Given the description of an element on the screen output the (x, y) to click on. 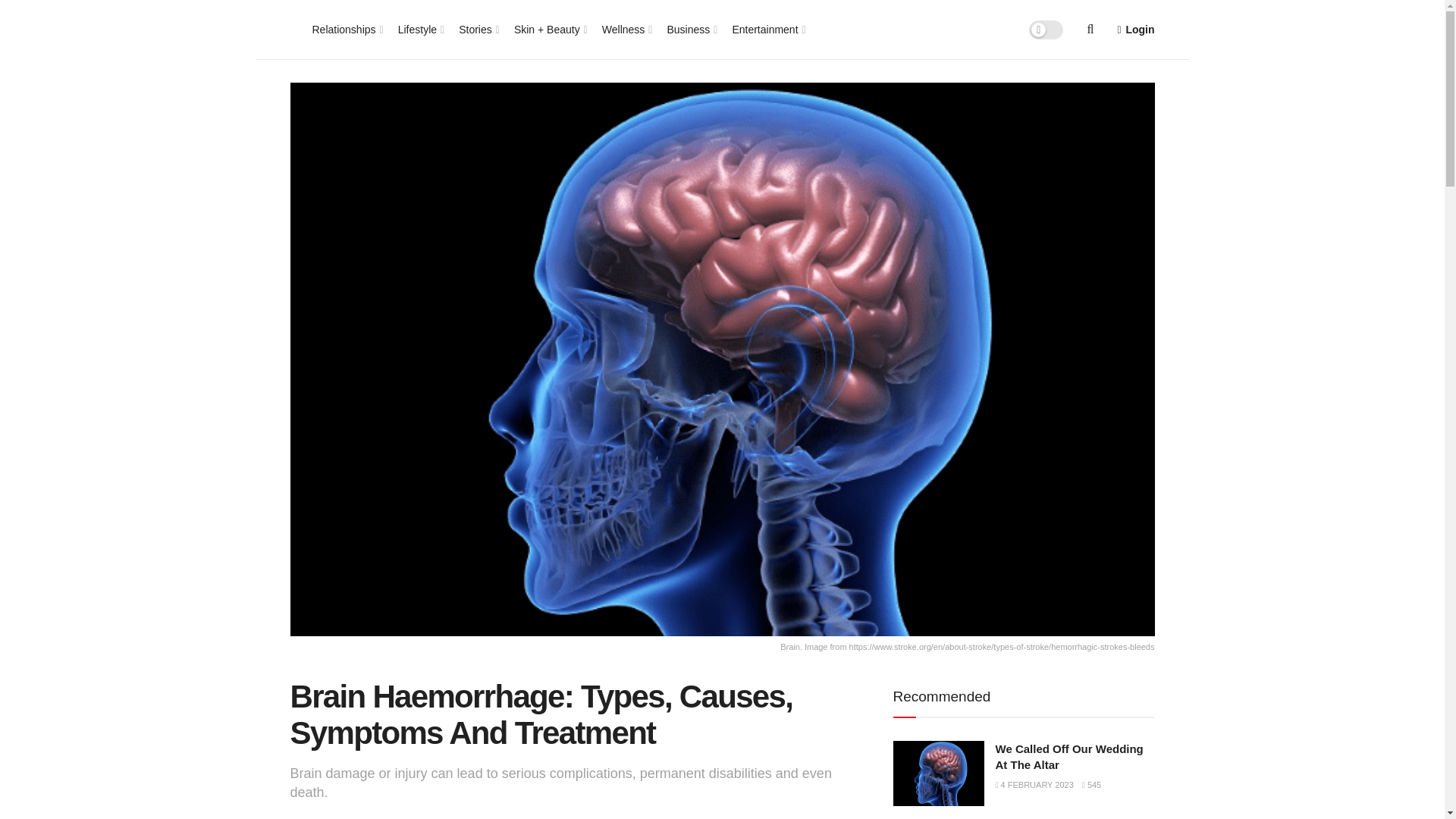
Entertainment (767, 29)
Wellness (626, 29)
Lifestyle (419, 29)
Relationships (347, 29)
Business (690, 29)
Stories (477, 29)
